Given the description of an element on the screen output the (x, y) to click on. 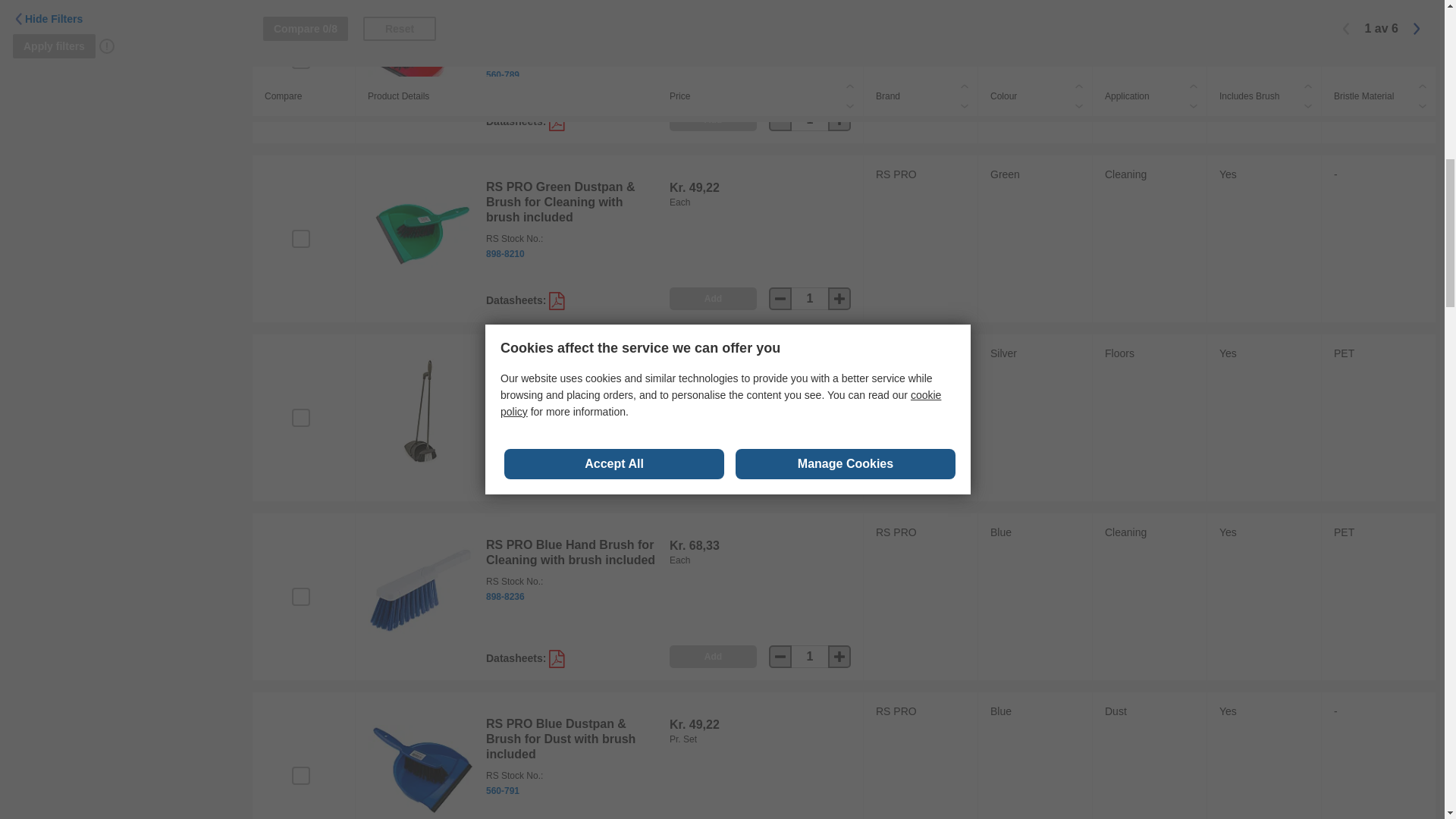
1 (810, 656)
on (299, 775)
on (299, 239)
1 (810, 119)
on (299, 417)
1 (810, 477)
1 (810, 298)
on (299, 59)
on (299, 597)
